Given the description of an element on the screen output the (x, y) to click on. 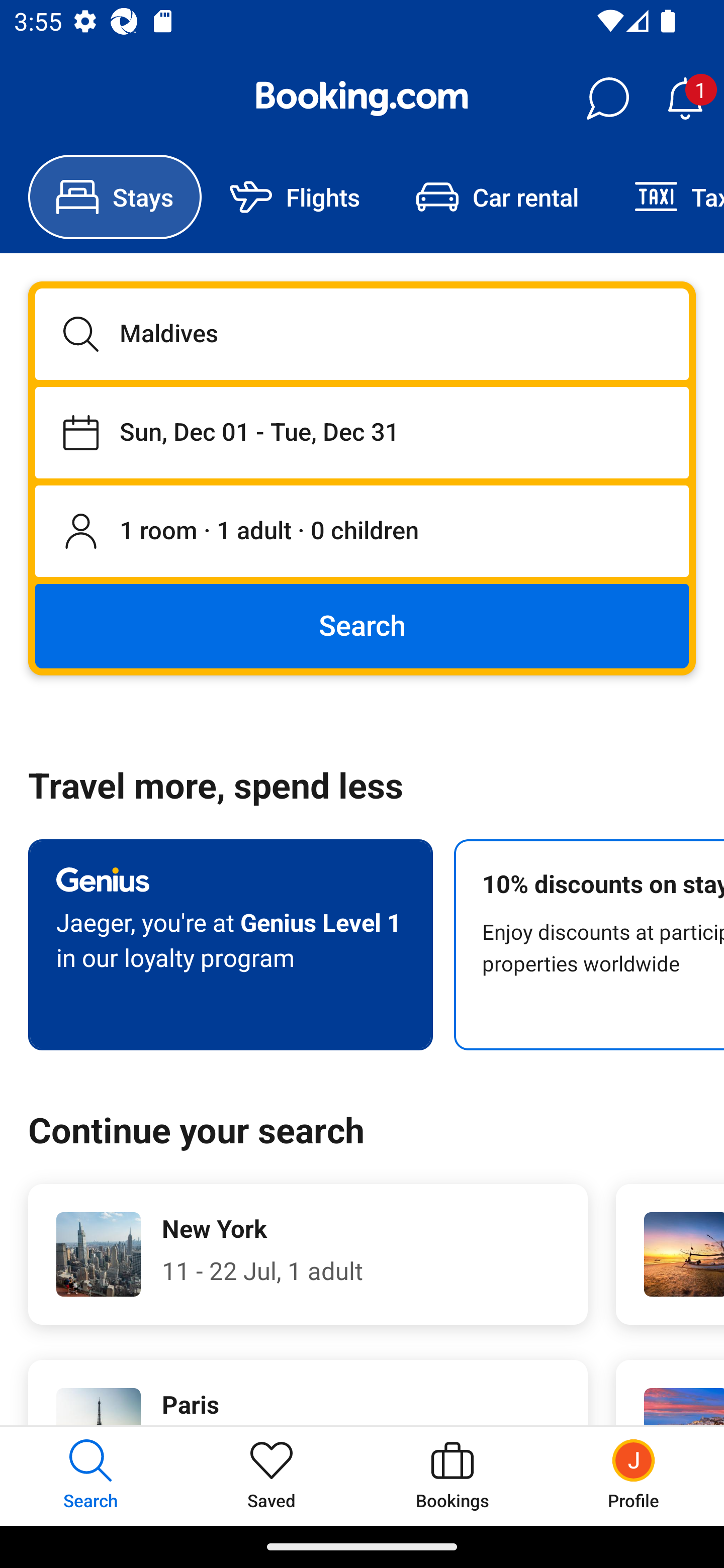
Messages (607, 98)
Notifications (685, 98)
Stays (114, 197)
Flights (294, 197)
Car rental (497, 197)
Taxi (665, 197)
Maldives (361, 333)
Staying from Sun, Dec 01 until Tue, Dec 31 (361, 432)
1 room, 1 adult, 0 children (361, 531)
Search (361, 625)
New York 11 - 22 Jul, 1 adult (307, 1253)
Saved (271, 1475)
Bookings (452, 1475)
Profile (633, 1475)
